Given the description of an element on the screen output the (x, y) to click on. 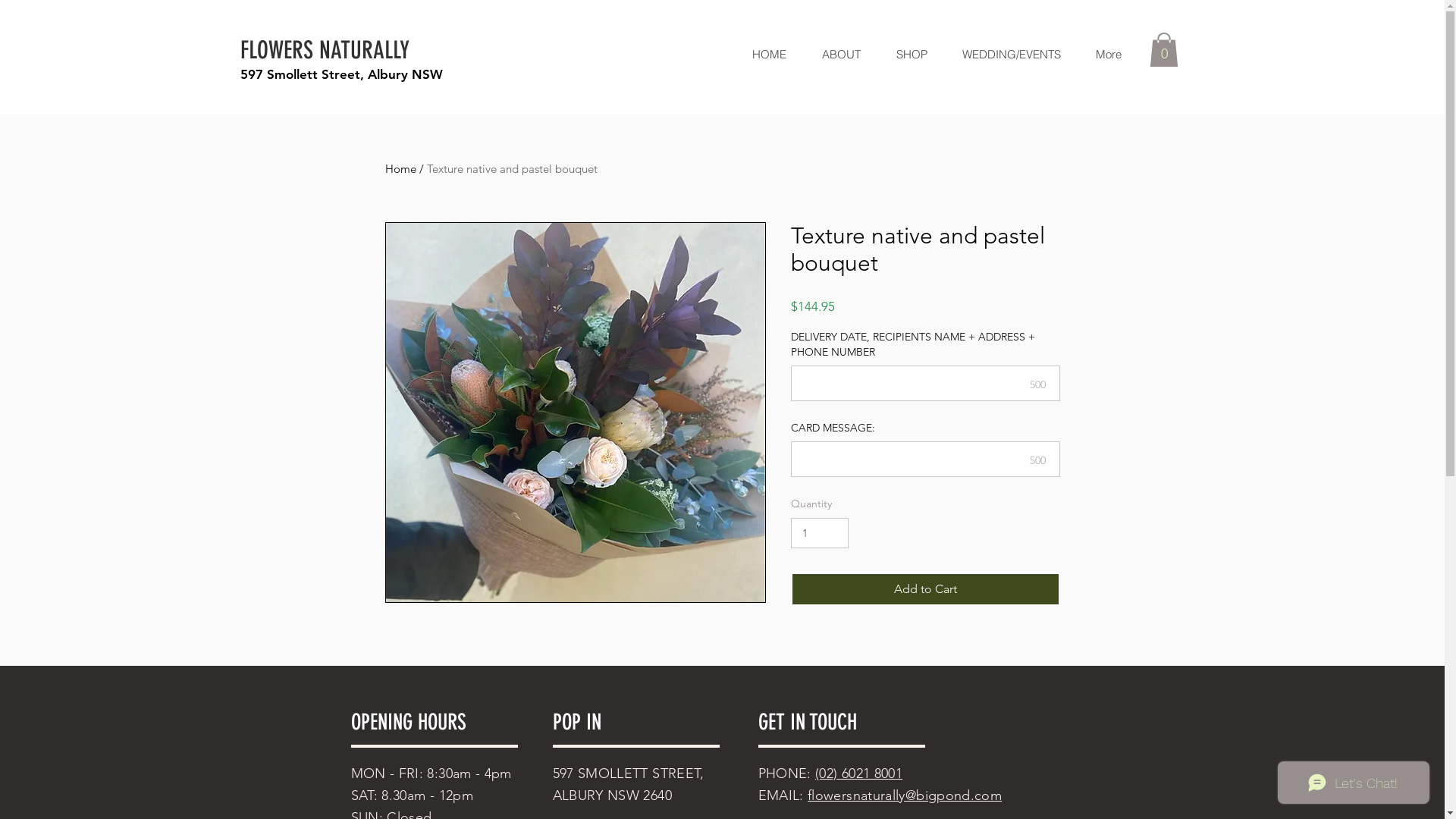
Texture native and pastel bouquet Element type: text (511, 168)
flowersnaturally@bigpond.com Element type: text (904, 795)
WEDDING/EVENTS Element type: text (1011, 54)
Add to Cart Element type: text (924, 588)
0 Element type: text (1163, 49)
Home Element type: text (400, 168)
HOME Element type: text (768, 54)
(02) 6021 8001 Element type: text (858, 773)
ABOUT Element type: text (840, 54)
SHOP Element type: text (911, 54)
